Given the description of an element on the screen output the (x, y) to click on. 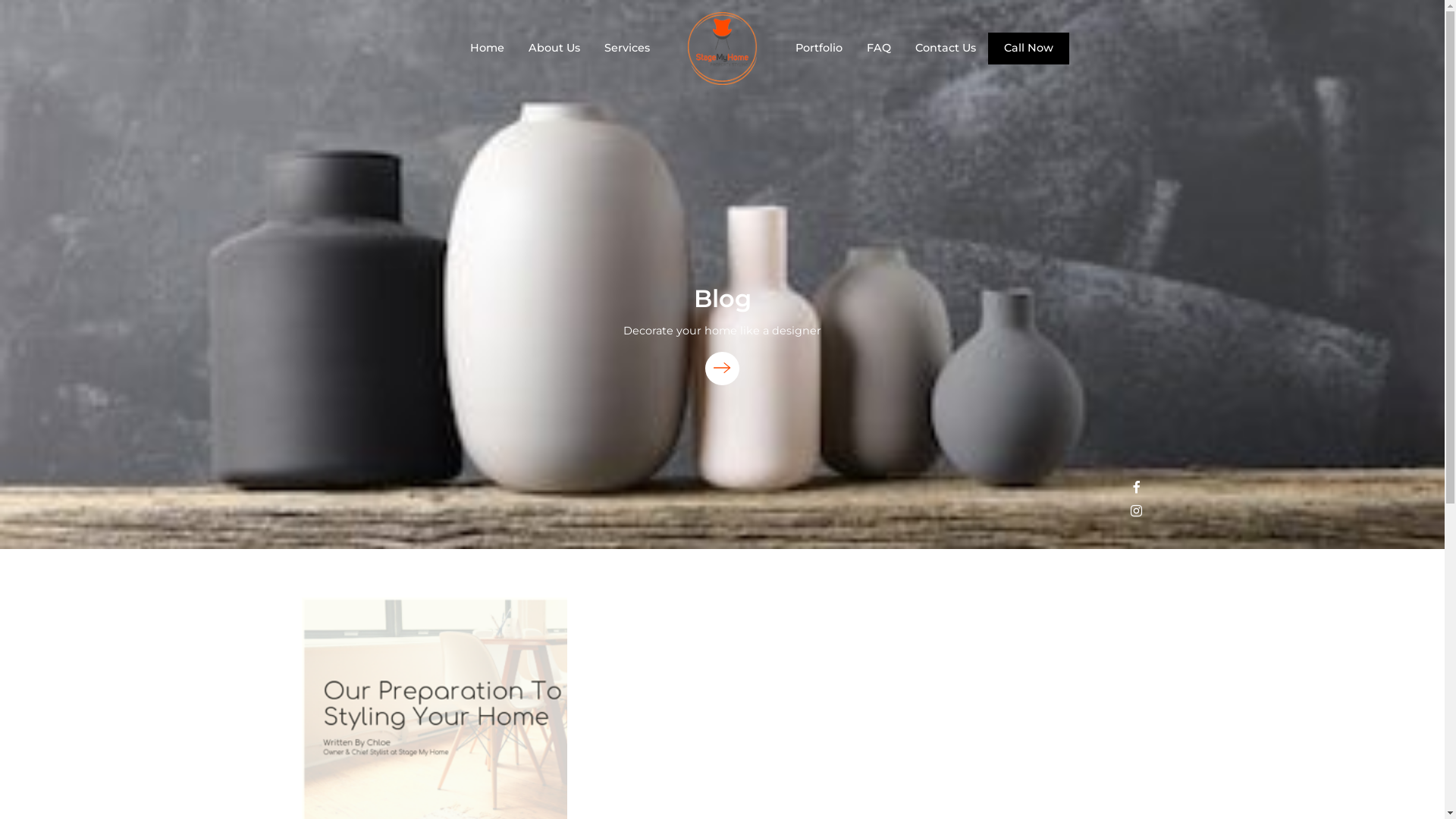
FAQ Element type: text (878, 47)
Portfolio Element type: text (817, 47)
Home Element type: text (487, 47)
Contact Us Element type: text (944, 47)
Call Now Element type: text (1027, 48)
About Us Element type: text (553, 47)
Services Element type: text (626, 47)
